Given the description of an element on the screen output the (x, y) to click on. 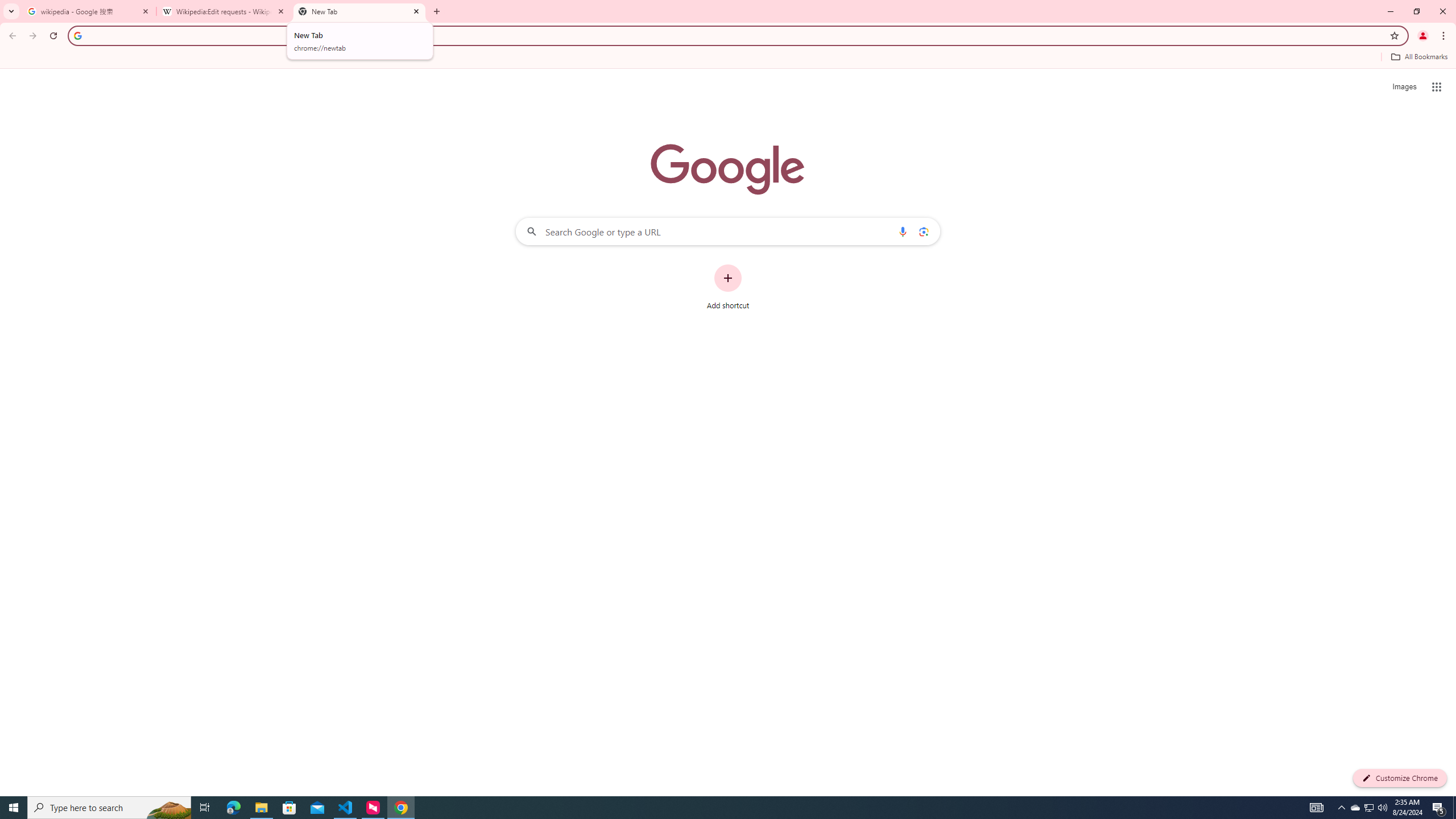
Search for Images  (1403, 87)
Search icon (77, 35)
New Tab (359, 11)
All Bookmarks (1418, 56)
Wikipedia:Edit requests - Wikipedia (224, 11)
Search by image (922, 230)
Add shortcut (727, 287)
Search Google or type a URL (727, 230)
